Given the description of an element on the screen output the (x, y) to click on. 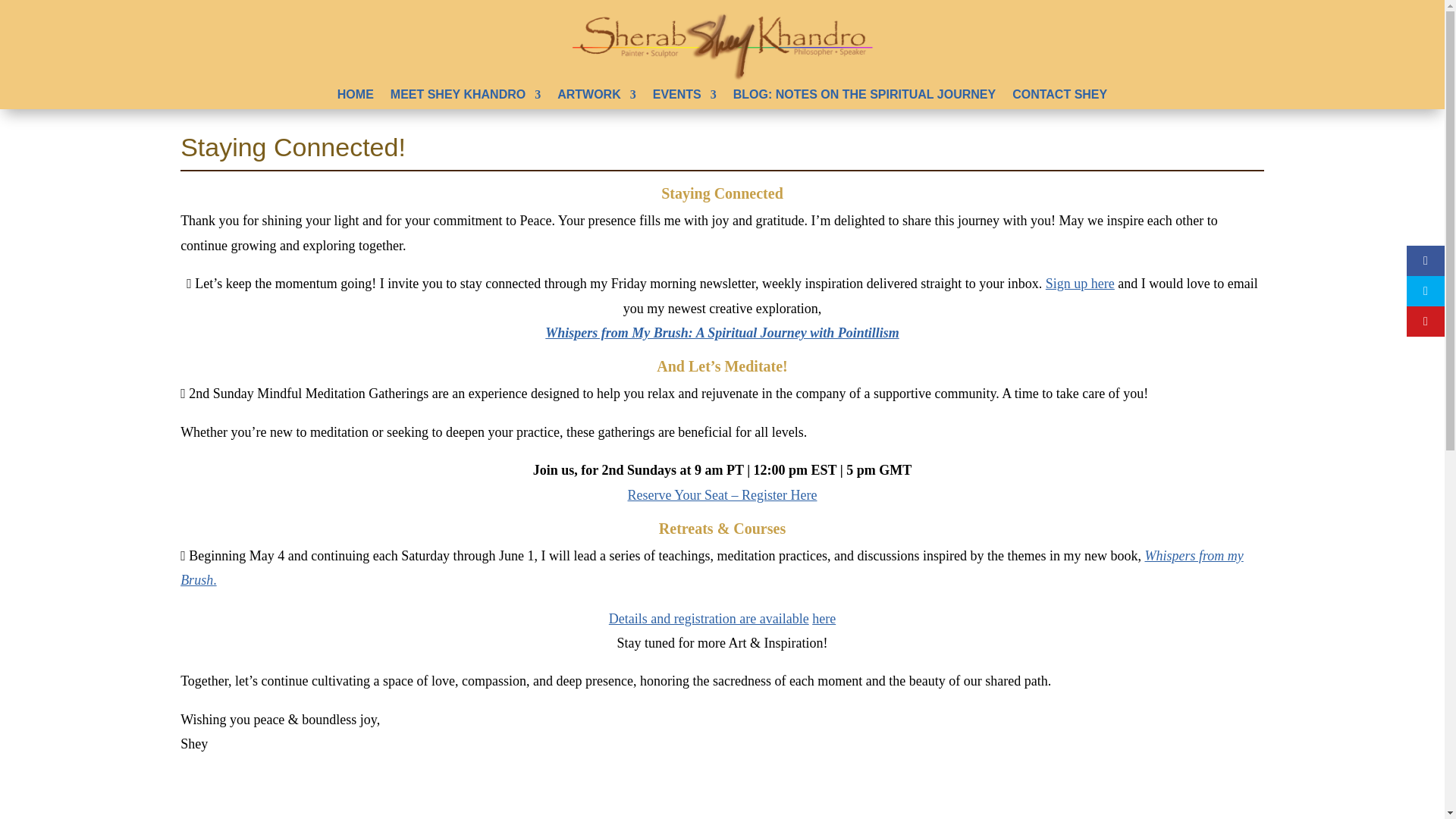
MEET SHEY KHANDRO (465, 97)
EVENTS (684, 97)
Details and registration are available (708, 618)
CONTACT SHEY (1058, 97)
Whispers from My Brush: A Spiritual Journey with Pointillism (721, 332)
HOME (355, 97)
Whispers from my Brush. (711, 567)
BLOG: NOTES ON THE SPIRITUAL JOURNEY (864, 97)
here (823, 618)
ARTWORK (596, 97)
Sign up here (1080, 283)
header-object (721, 46)
